Given the description of an element on the screen output the (x, y) to click on. 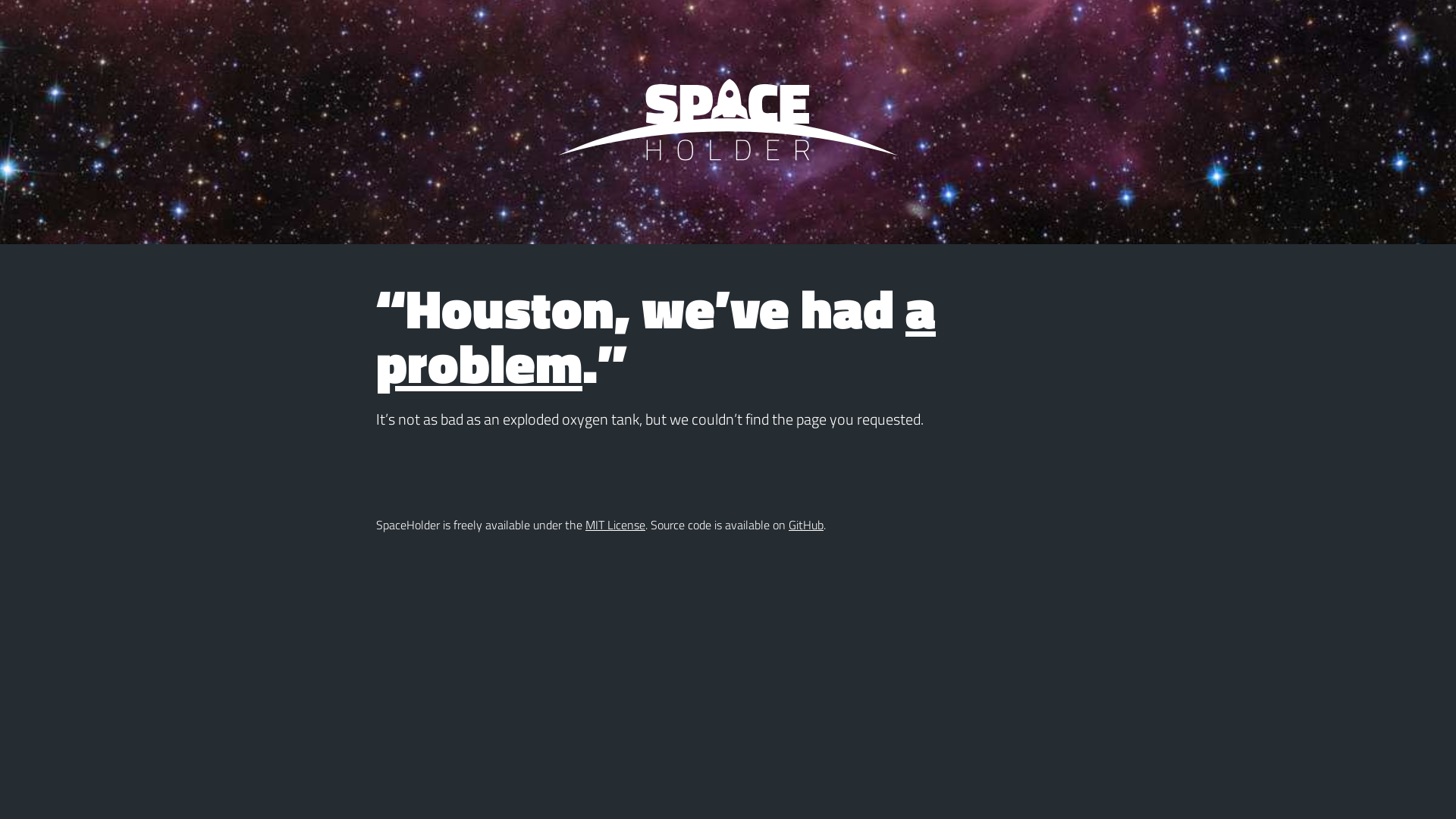
MIT License Element type: text (615, 524)
SpaceHolder Element type: text (727, 121)
GitHub Element type: text (805, 524)
a problem Element type: text (655, 335)
